Given the description of an element on the screen output the (x, y) to click on. 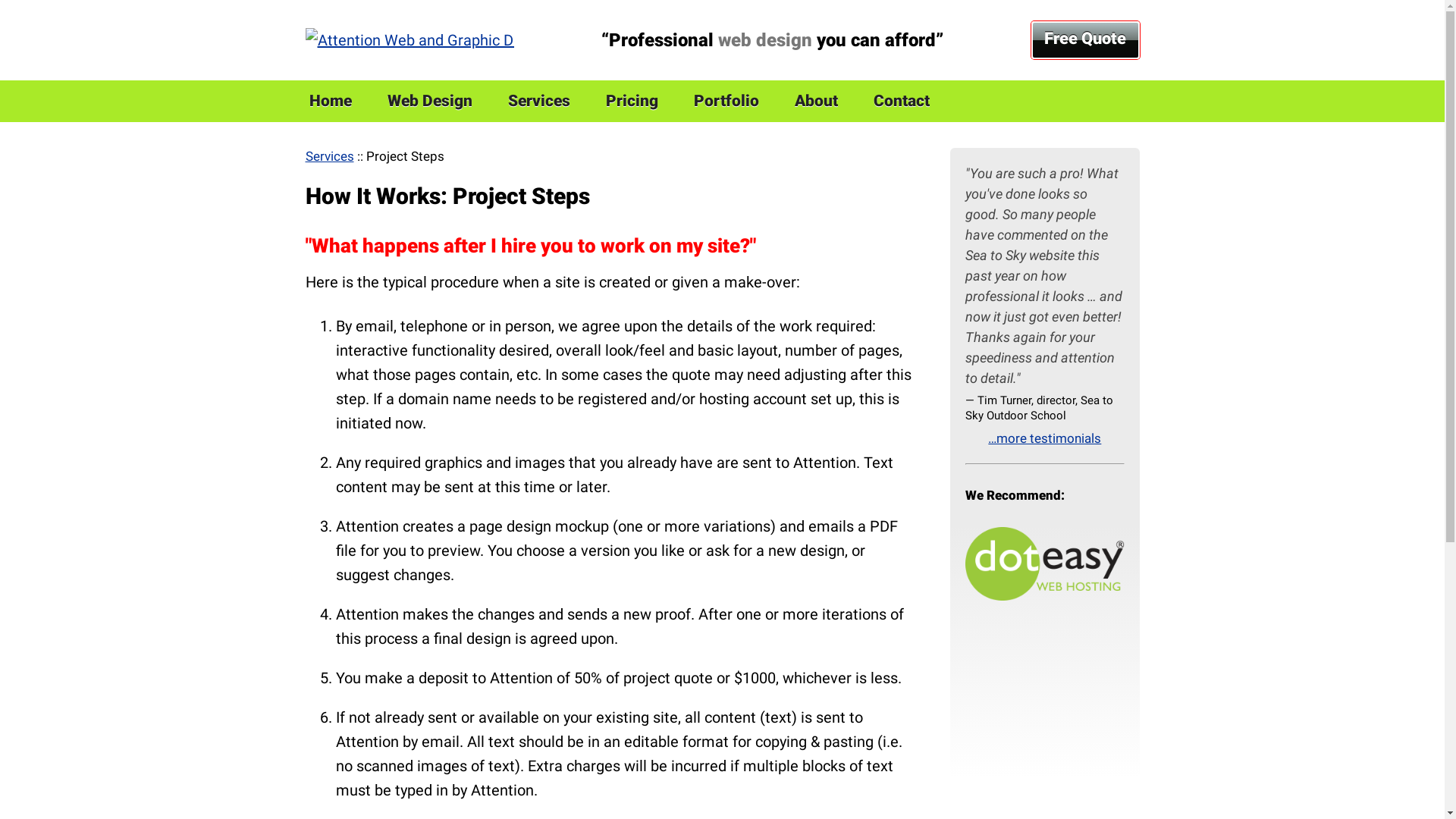
Contact Element type: text (900, 101)
Portfolio Element type: text (726, 101)
Pricing Element type: text (631, 101)
Services Element type: text (328, 155)
Services Element type: text (538, 101)
Free Quote Element type: text (1085, 40)
Home Element type: text (329, 101)
Web Design Element type: text (429, 101)
home page Element type: hover (408, 40)
About Element type: text (815, 101)
